Given the description of an element on the screen output the (x, y) to click on. 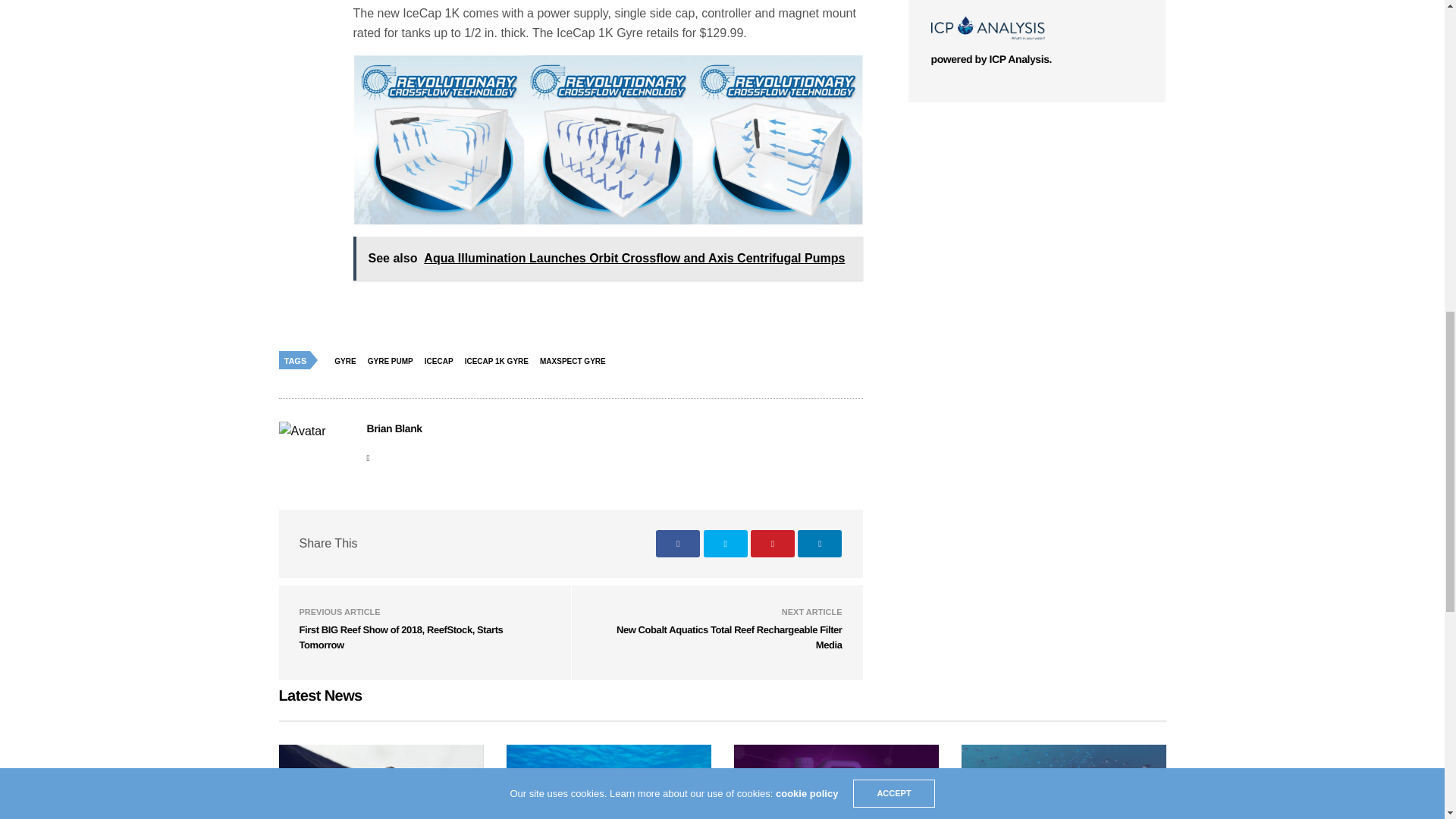
New Cobalt Aquatics Total Reef Rechargeable Filter Media (729, 637)
Identity Theft! False Cleanerfishes In The Reefing Hobby (381, 781)
First BIG Reef Show of 2018, ReefStock, Starts Tomorrow (400, 637)
